Given the description of an element on the screen output the (x, y) to click on. 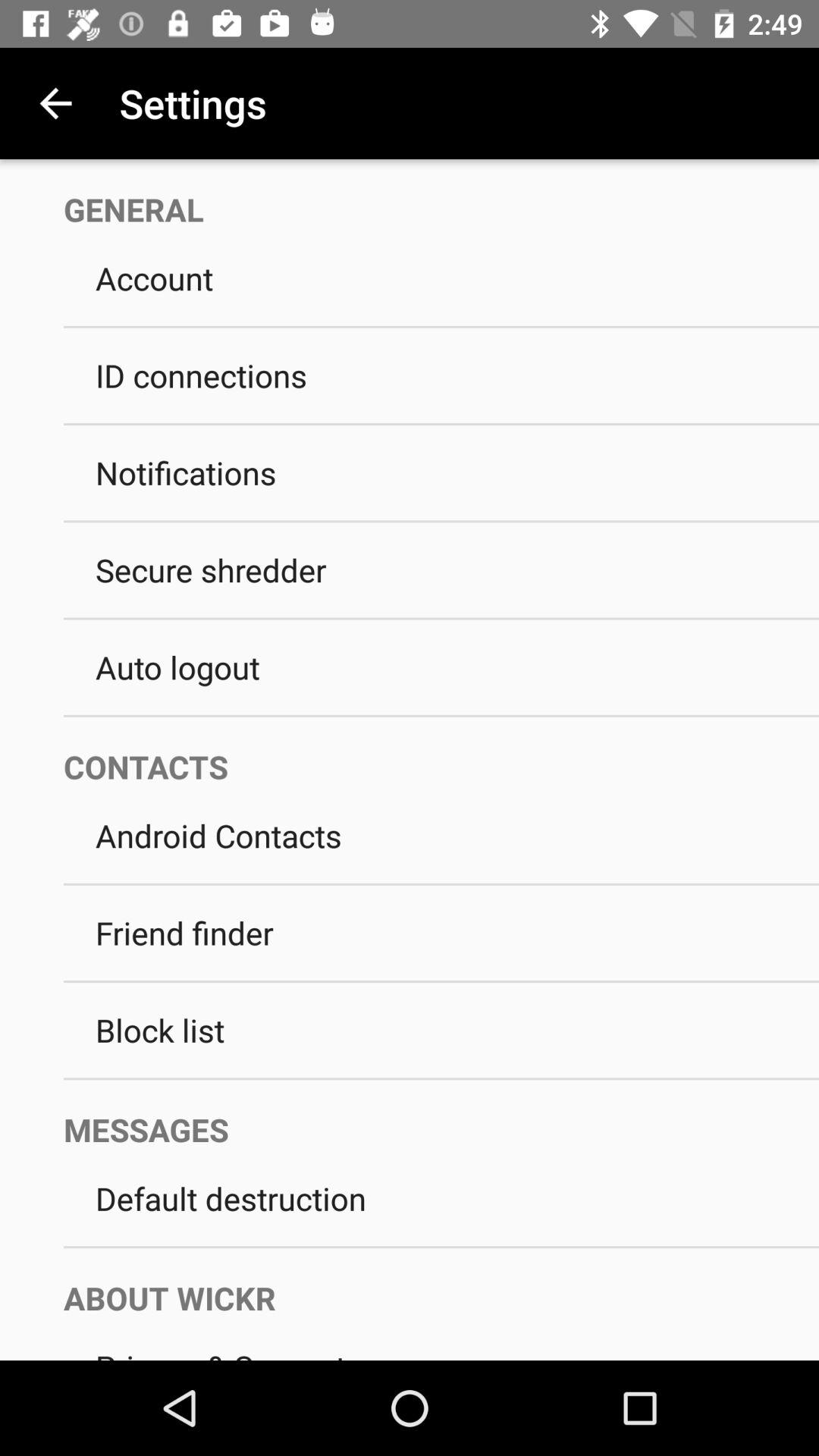
scroll to privacy & support (441, 1339)
